Given the description of an element on the screen output the (x, y) to click on. 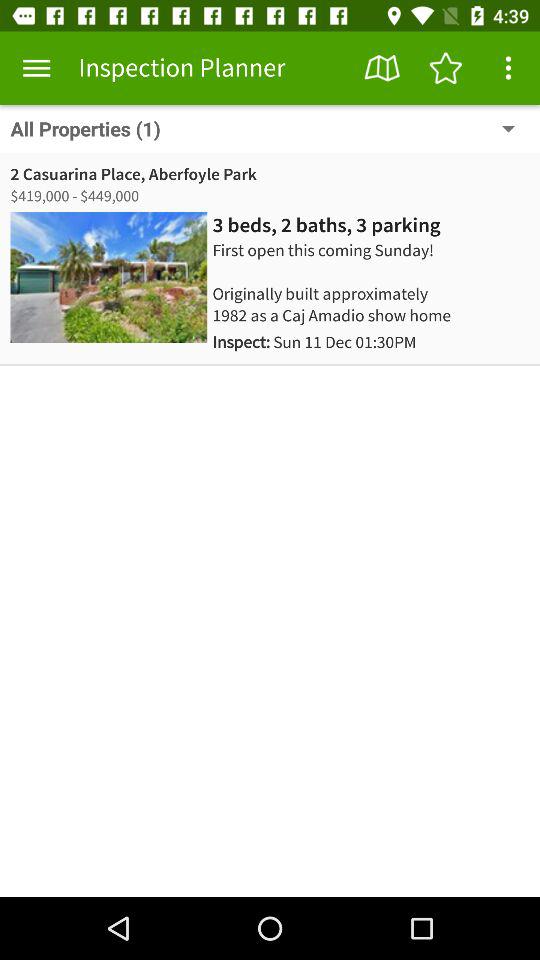
open menu (508, 67)
